Given the description of an element on the screen output the (x, y) to click on. 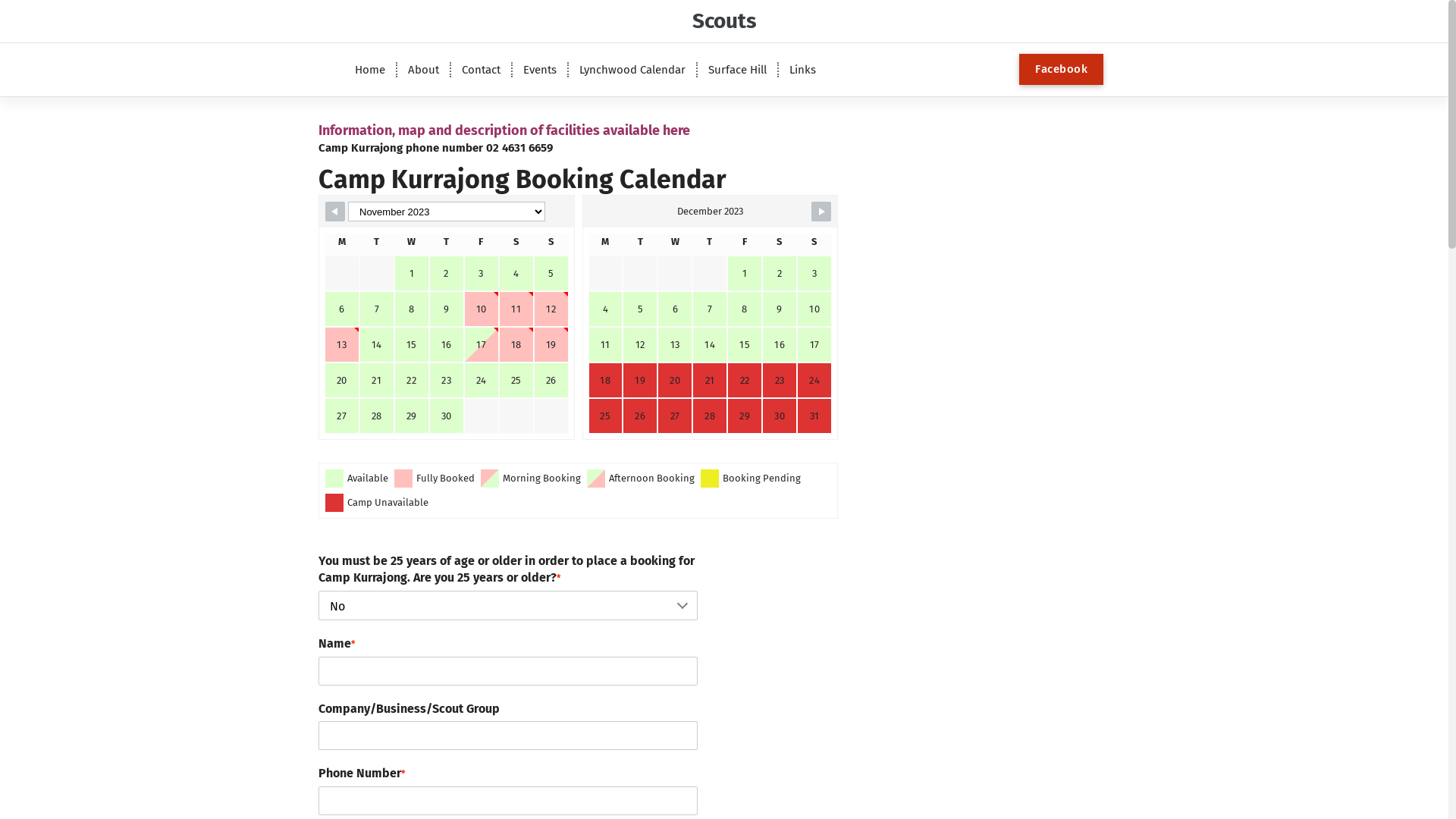
Links Element type: text (802, 69)
Contact Element type: text (480, 69)
Scouts Element type: text (723, 21)
Events Element type: text (539, 69)
F
a
c
e
b
o
o
k Element type: text (1061, 68)
Lynchwood Calendar Element type: text (632, 69)
About Element type: text (423, 69)
Surface Hill Element type: text (737, 69)
Home Element type: text (369, 69)
